Given the description of an element on the screen output the (x, y) to click on. 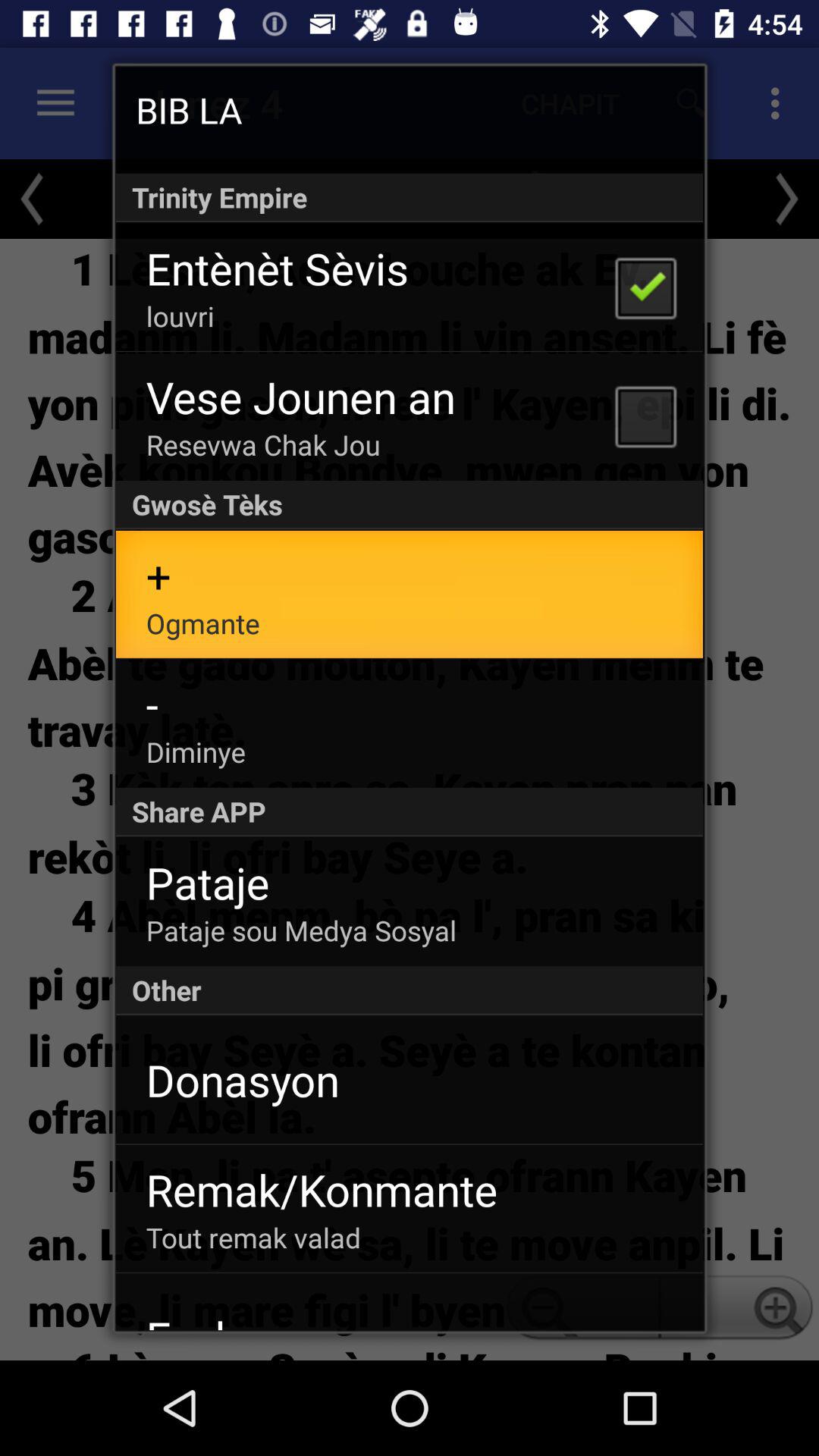
launch the trinity empire item (409, 197)
